Given the description of an element on the screen output the (x, y) to click on. 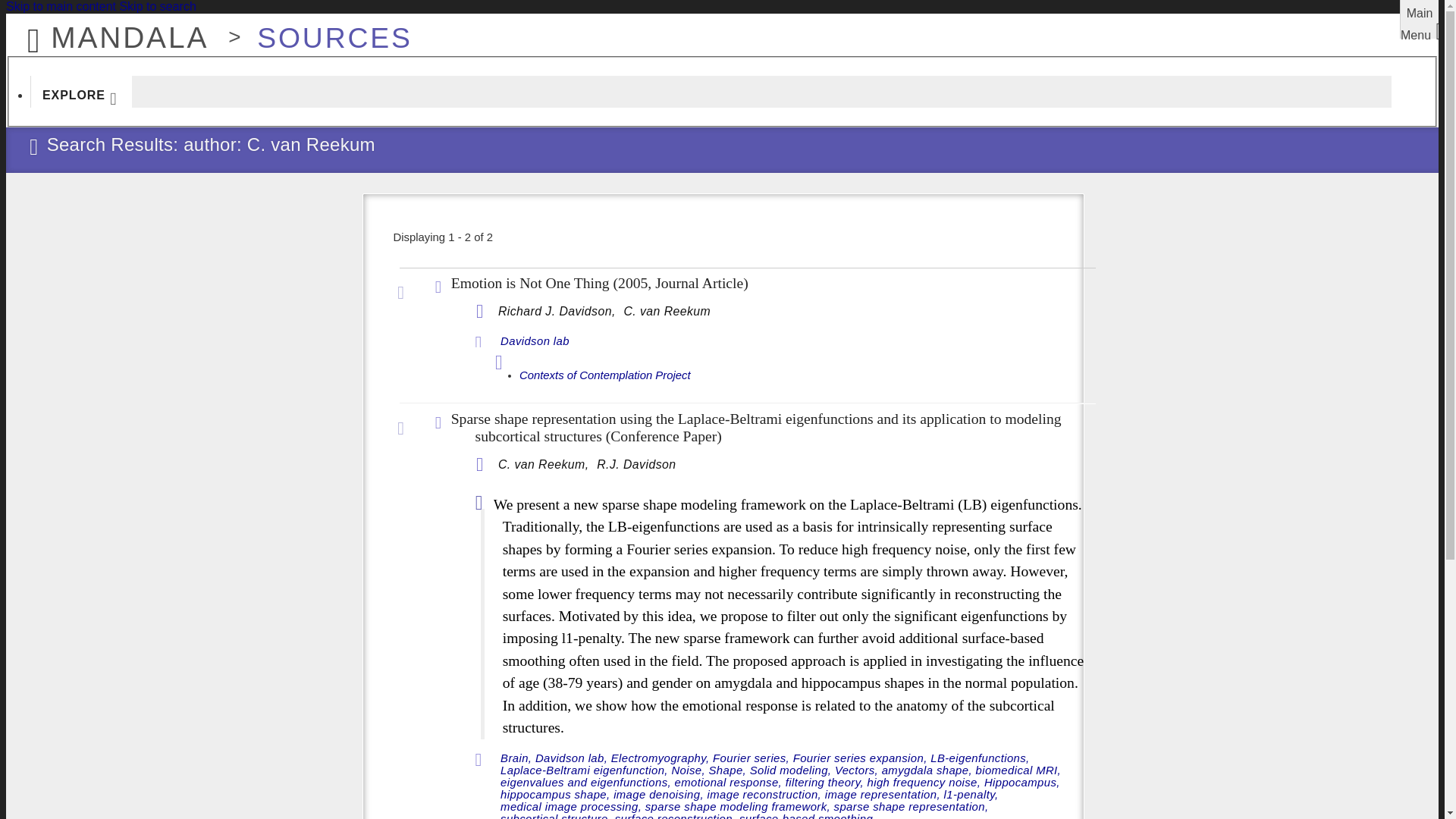
Contexts of Contemplation Project (604, 375)
LB-eigenfunctions, (979, 758)
SOURCES (326, 29)
Fourier series, (751, 758)
Richard J. Davidson, (558, 311)
Davidson lab (534, 341)
C. van Reekum, (544, 464)
Skip to search (157, 6)
Davidson lab, (571, 758)
Laplace-Beltrami eigenfunction, (584, 770)
Skip to main content (60, 6)
Brain, (515, 758)
C. van Reekum (666, 311)
Mandala Collections - Sources Homepage (326, 29)
EXPLORE (81, 91)
